Given the description of an element on the screen output the (x, y) to click on. 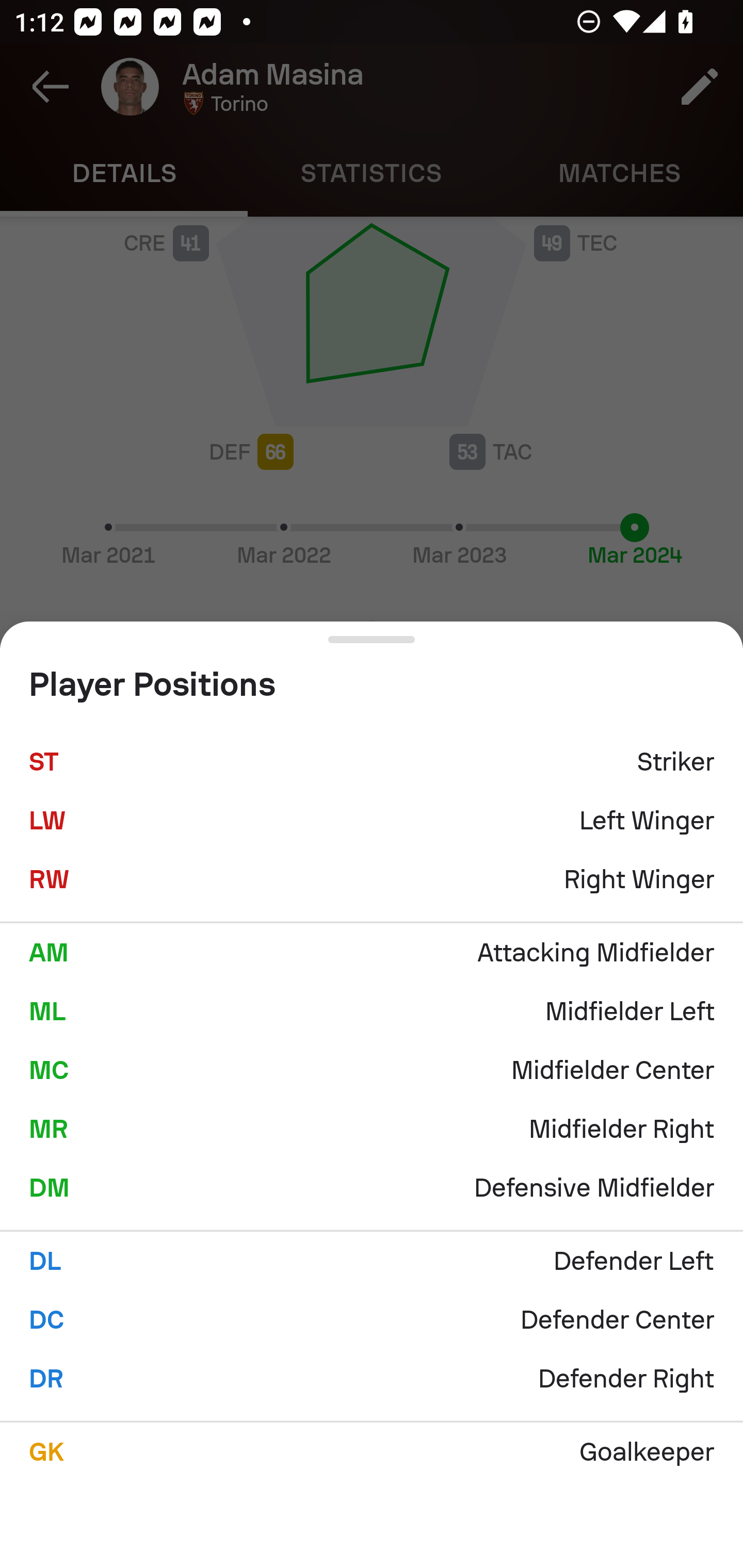
ST Striker (371, 761)
LW Left Winger (371, 820)
RW Right Winger (371, 879)
AM Attacking Midfielder (371, 952)
ML Midfielder Left (371, 1011)
MC Midfielder Center (371, 1070)
MR Midfielder Right (371, 1128)
DM Defensive Midfielder (371, 1187)
DL Defender Left (371, 1261)
DC Defender Center (371, 1320)
DR Defender Right (371, 1379)
GK Goalkeeper (371, 1451)
